Given the description of an element on the screen output the (x, y) to click on. 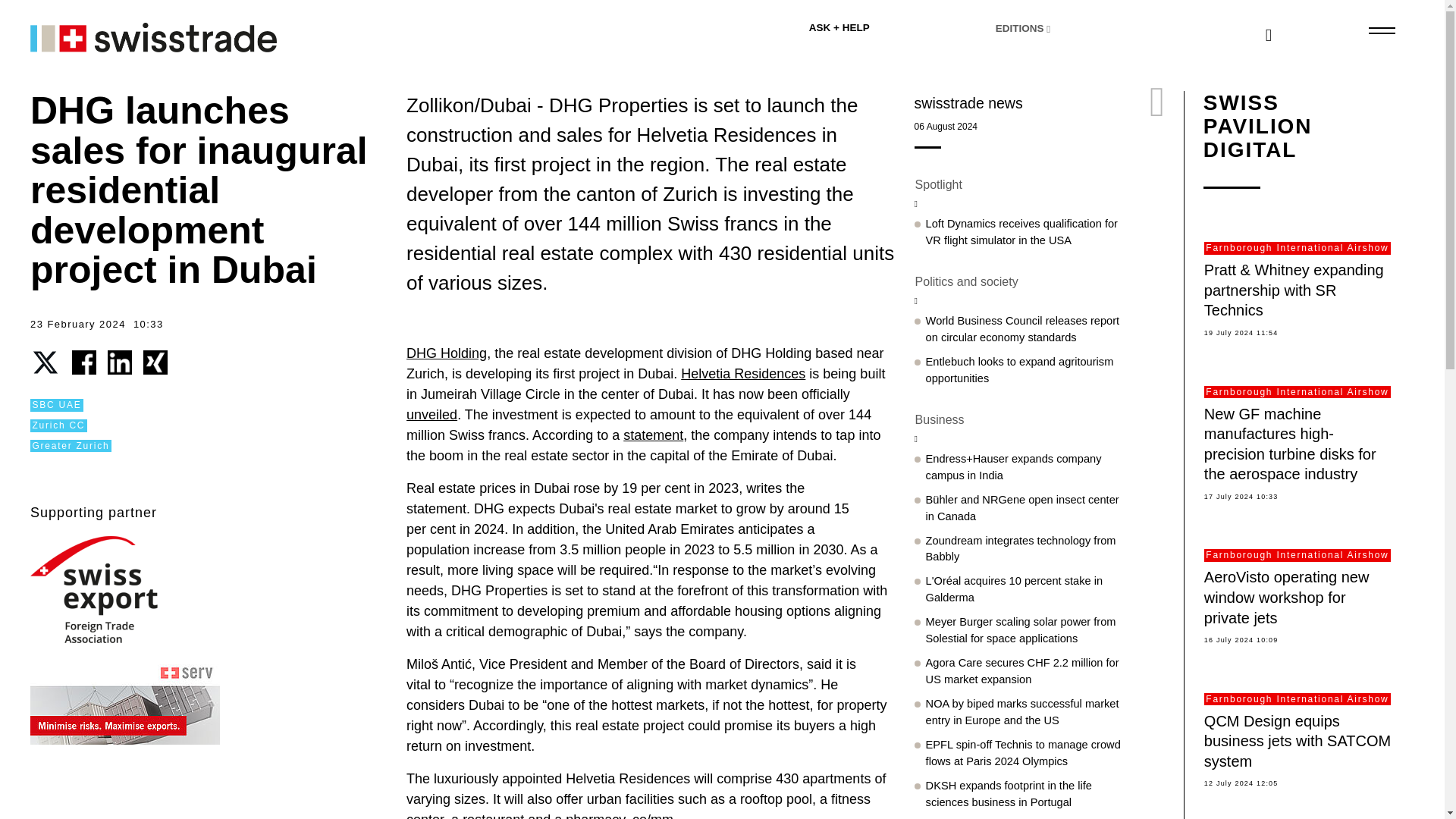
Zurich CC (58, 425)
Swiss Trade Logo (153, 37)
SBC UAE (56, 404)
Greater Zurich (71, 445)
QCM Design equips business jets with SATCOM system (1297, 740)
Swiss Trade Logo (124, 35)
AeroVisto operating new window workshop for private jets (1287, 596)
Menu (1379, 30)
EDITIONS (1068, 28)
